Given the description of an element on the screen output the (x, y) to click on. 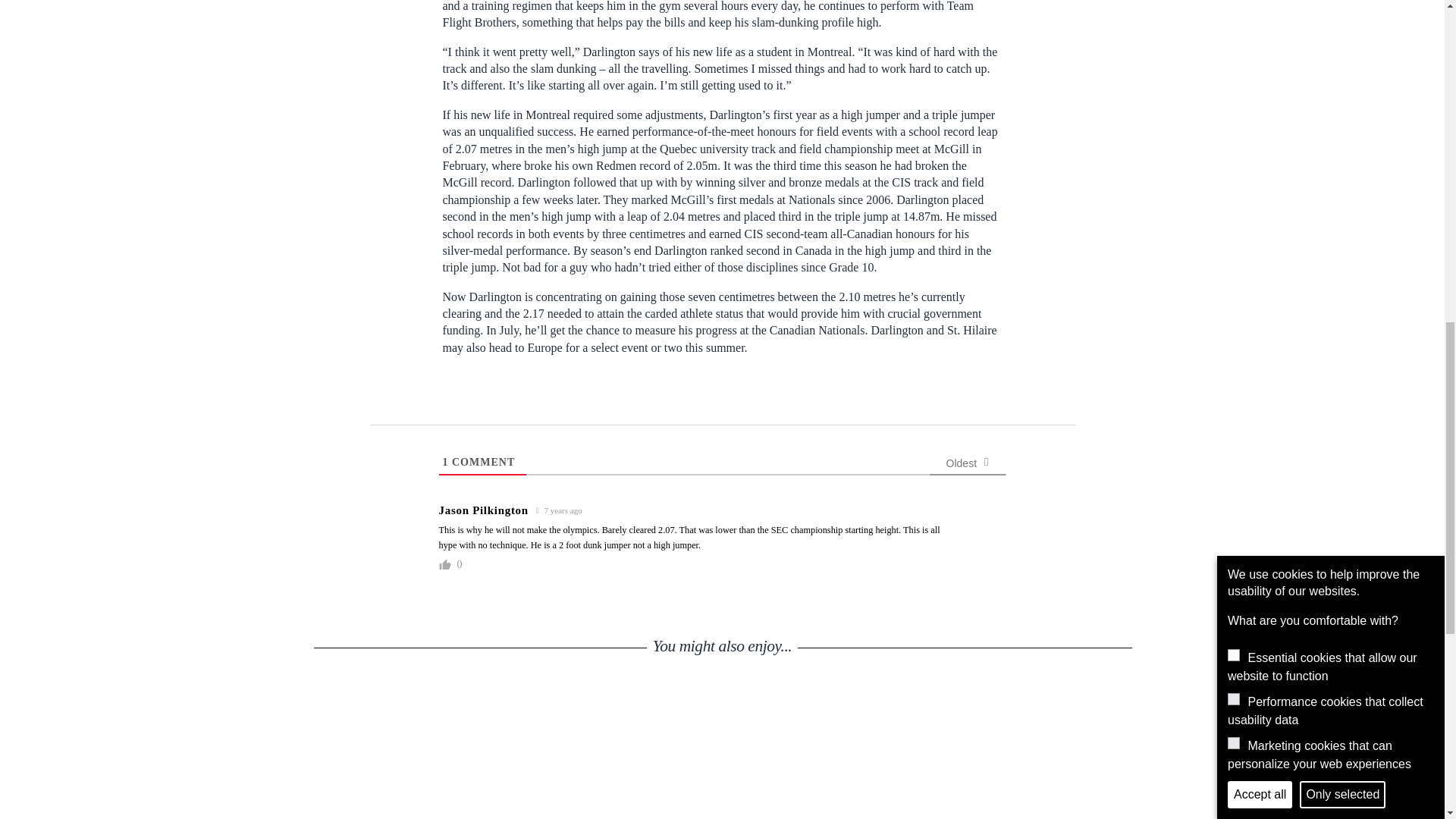
0 (458, 564)
March 2, 2017 9:45 am (559, 510)
Isaiah Cree: Born to play lacrosse (617, 753)
Swimmers Collin and Sarty named McGill athletes of the year (826, 753)
